Given the description of an element on the screen output the (x, y) to click on. 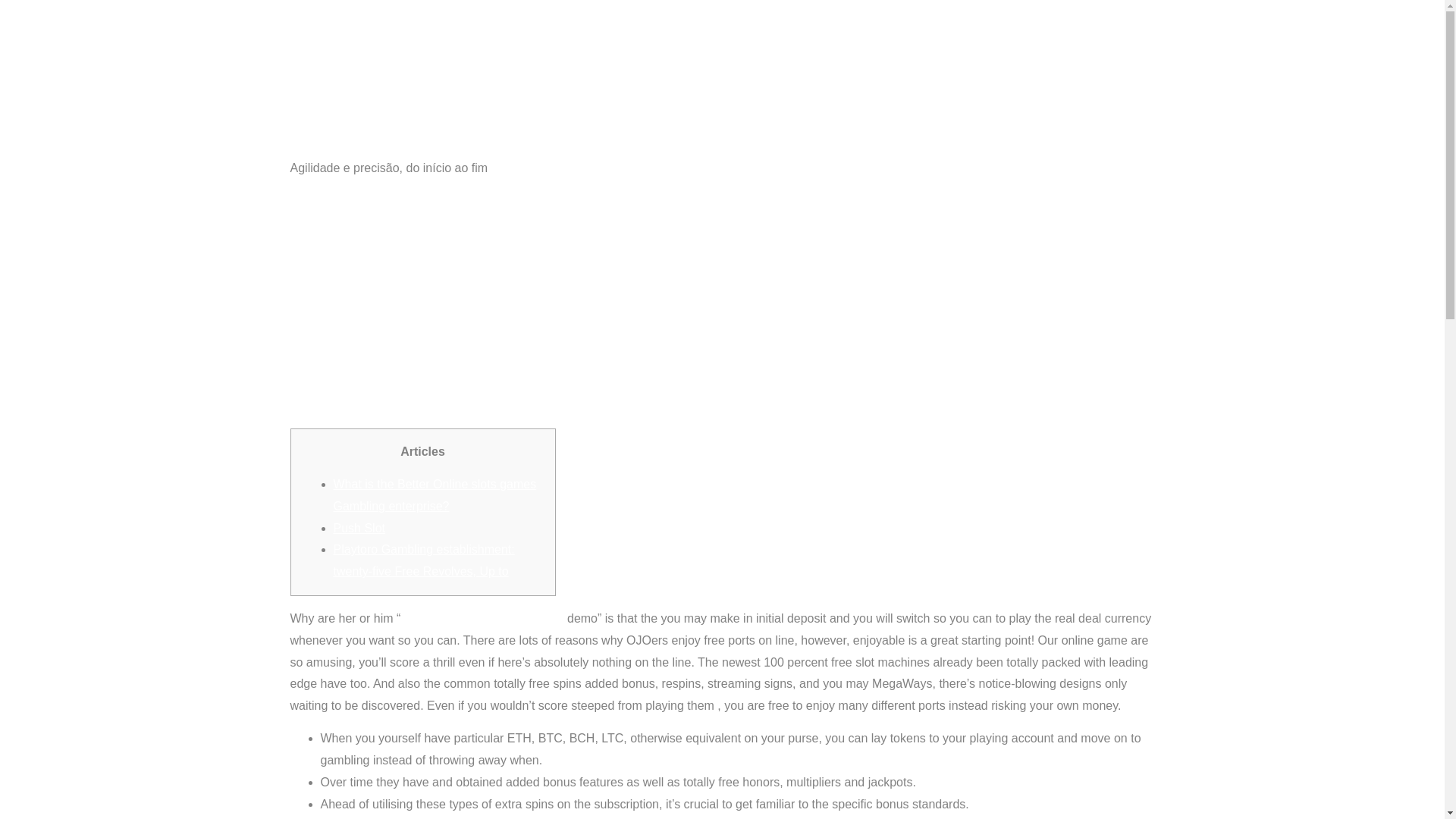
Push Slot (359, 527)
super duper cherry online slot (484, 617)
Home (928, 95)
Supra Engenharia (487, 84)
Contato (1121, 95)
What is the Better Online slots games Gambling enterprise? (435, 494)
Mostras (989, 95)
Inicial (487, 84)
